Given the description of an element on the screen output the (x, y) to click on. 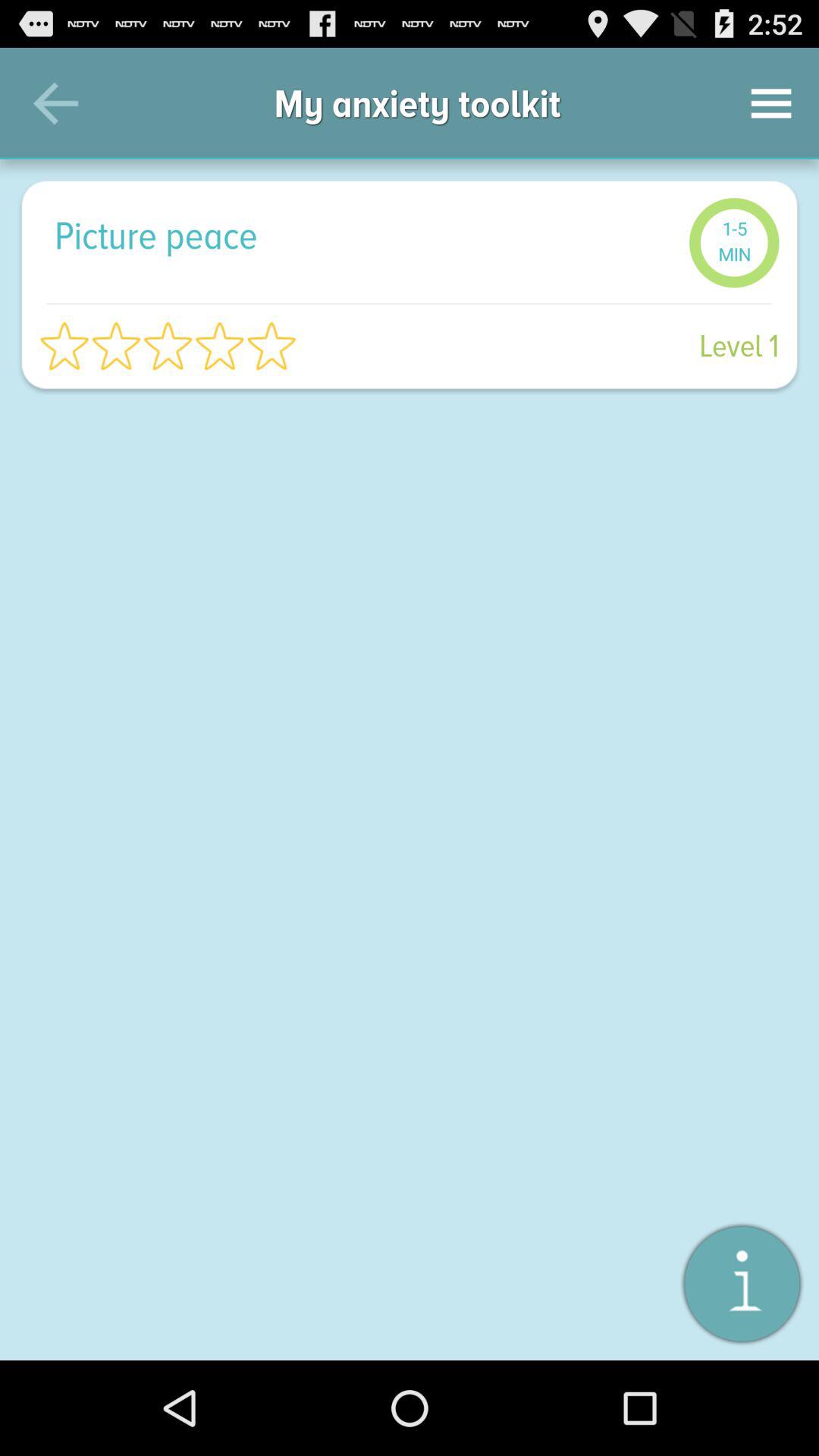
flip to the picture peace item (363, 235)
